Given the description of an element on the screen output the (x, y) to click on. 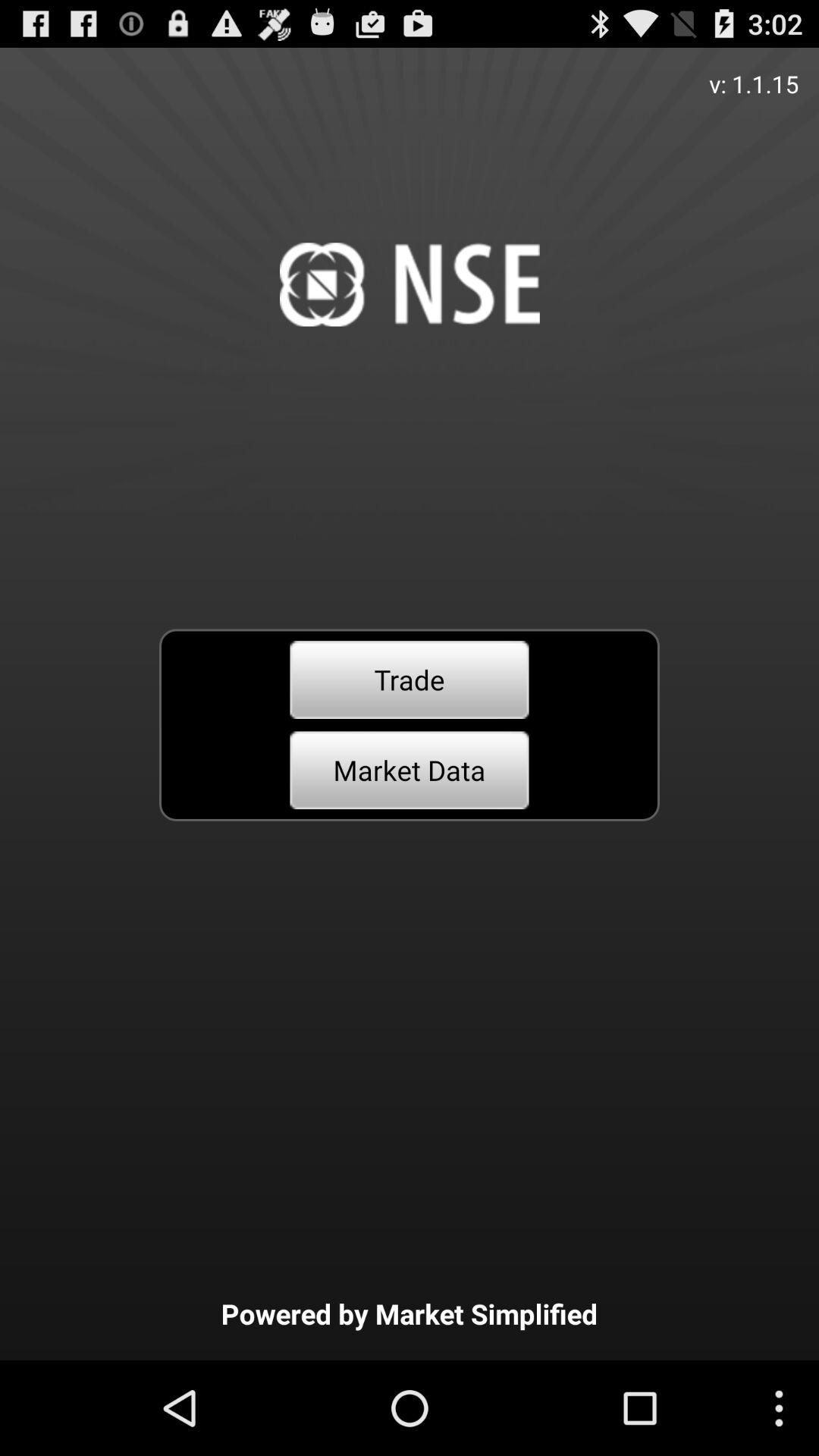
tap item above market data (409, 679)
